Given the description of an element on the screen output the (x, y) to click on. 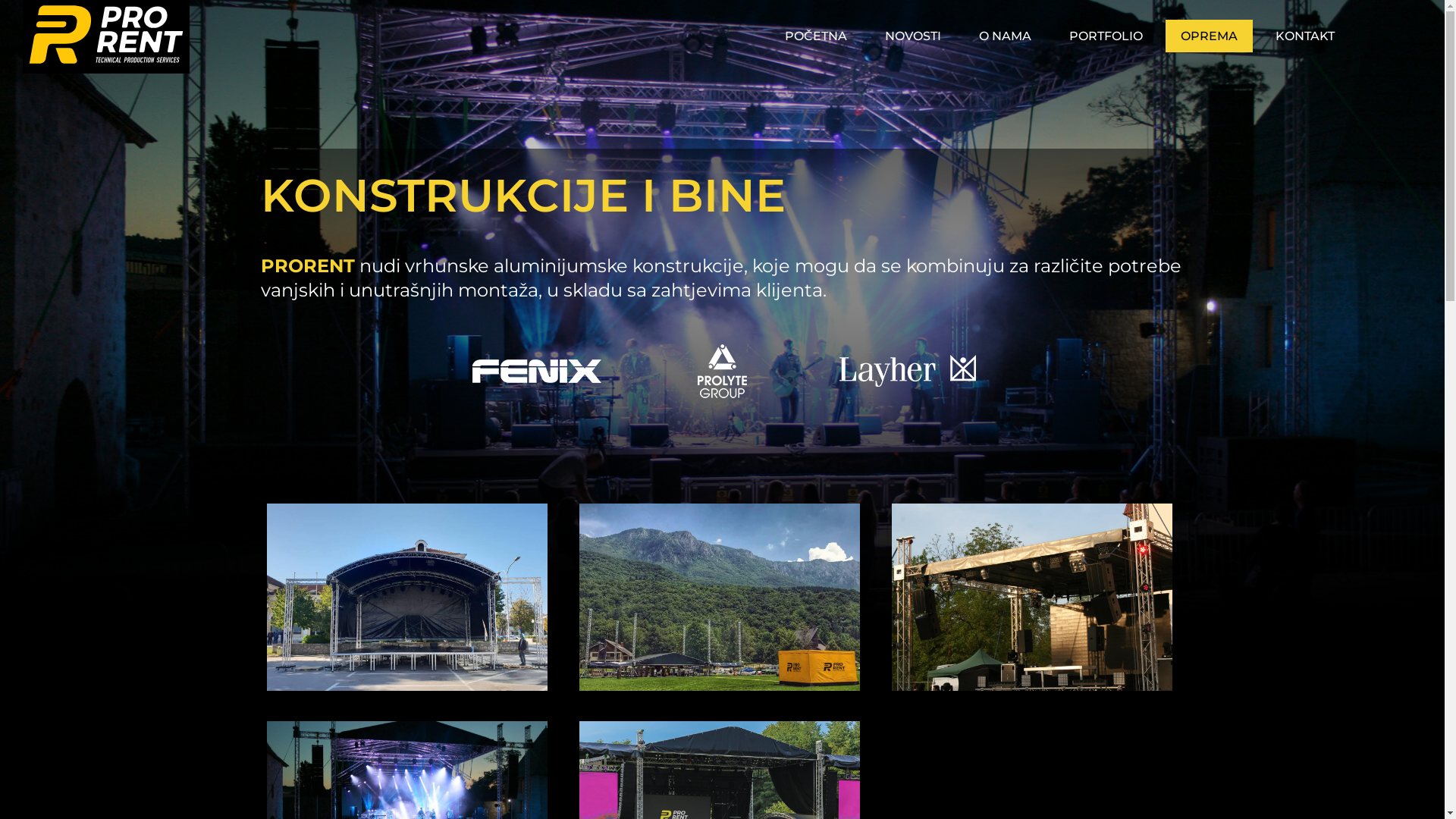
OPREMA Element type: text (1208, 35)
O NAMA Element type: text (1004, 35)
NOVOSTI Element type: text (912, 35)
PORTFOLIO Element type: text (1105, 35)
KONTAKT Element type: text (1304, 35)
